Given the description of an element on the screen output the (x, y) to click on. 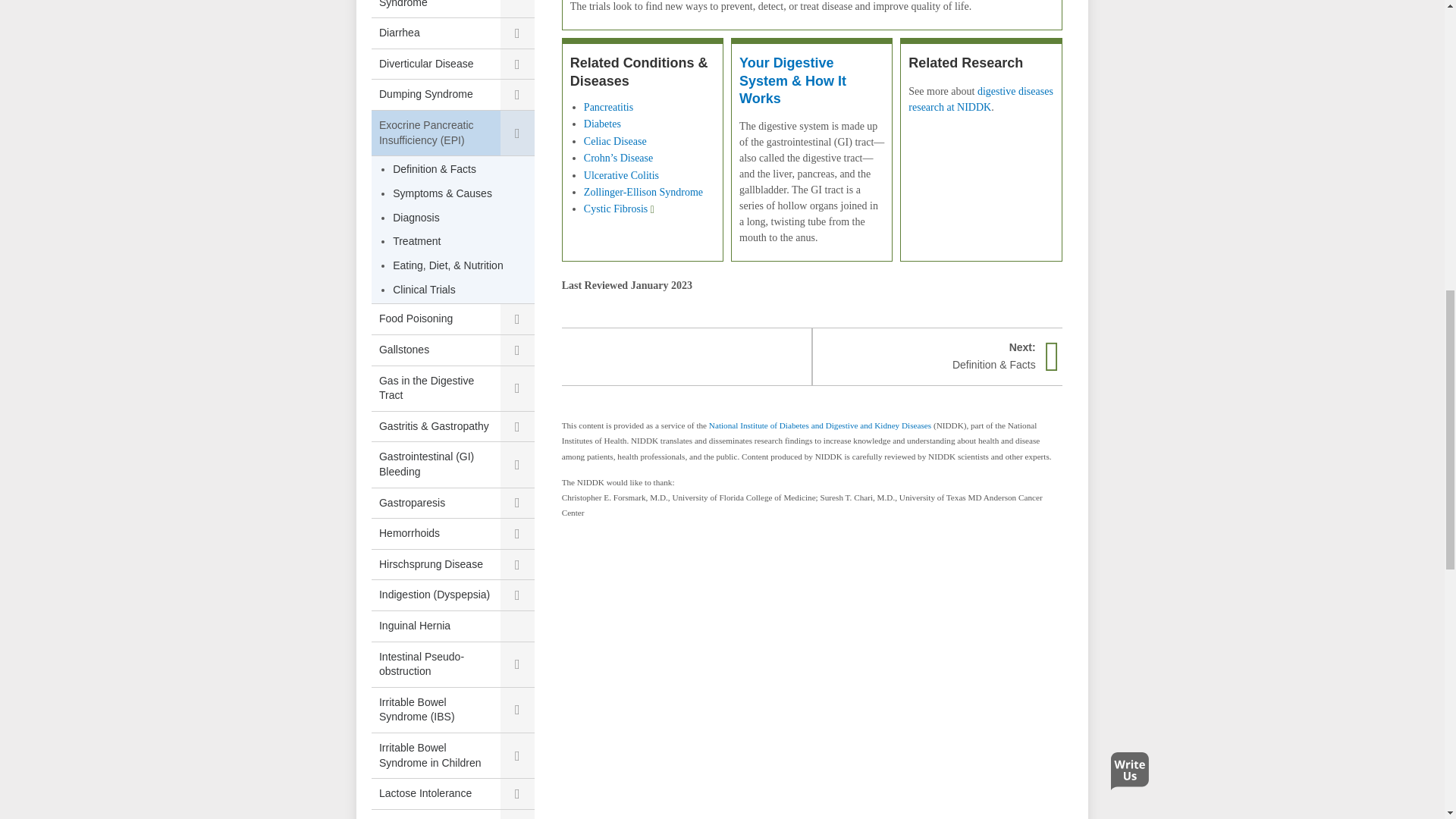
Show child pages for "Diverticular Disease" (517, 64)
Show child pages for "Cyclic Vomiting Syndrome" (517, 8)
Show child pages for "Dumping Syndrome" (517, 94)
Show child pages for "Diarrhea" (517, 33)
